Given the description of an element on the screen output the (x, y) to click on. 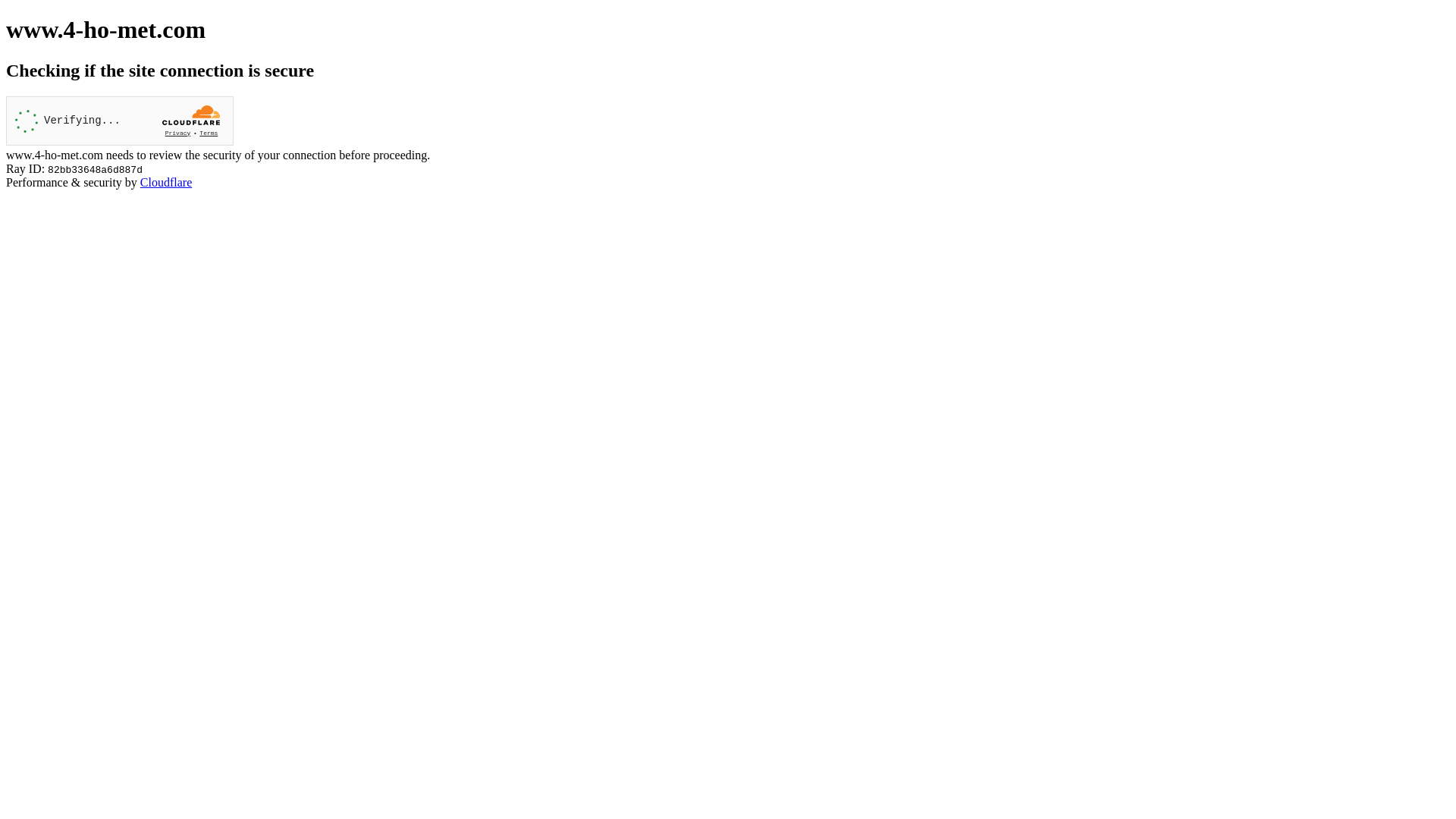
Widget containing a Cloudflare security challenge Element type: hover (119, 120)
Cloudflare Element type: text (165, 181)
